Given the description of an element on the screen output the (x, y) to click on. 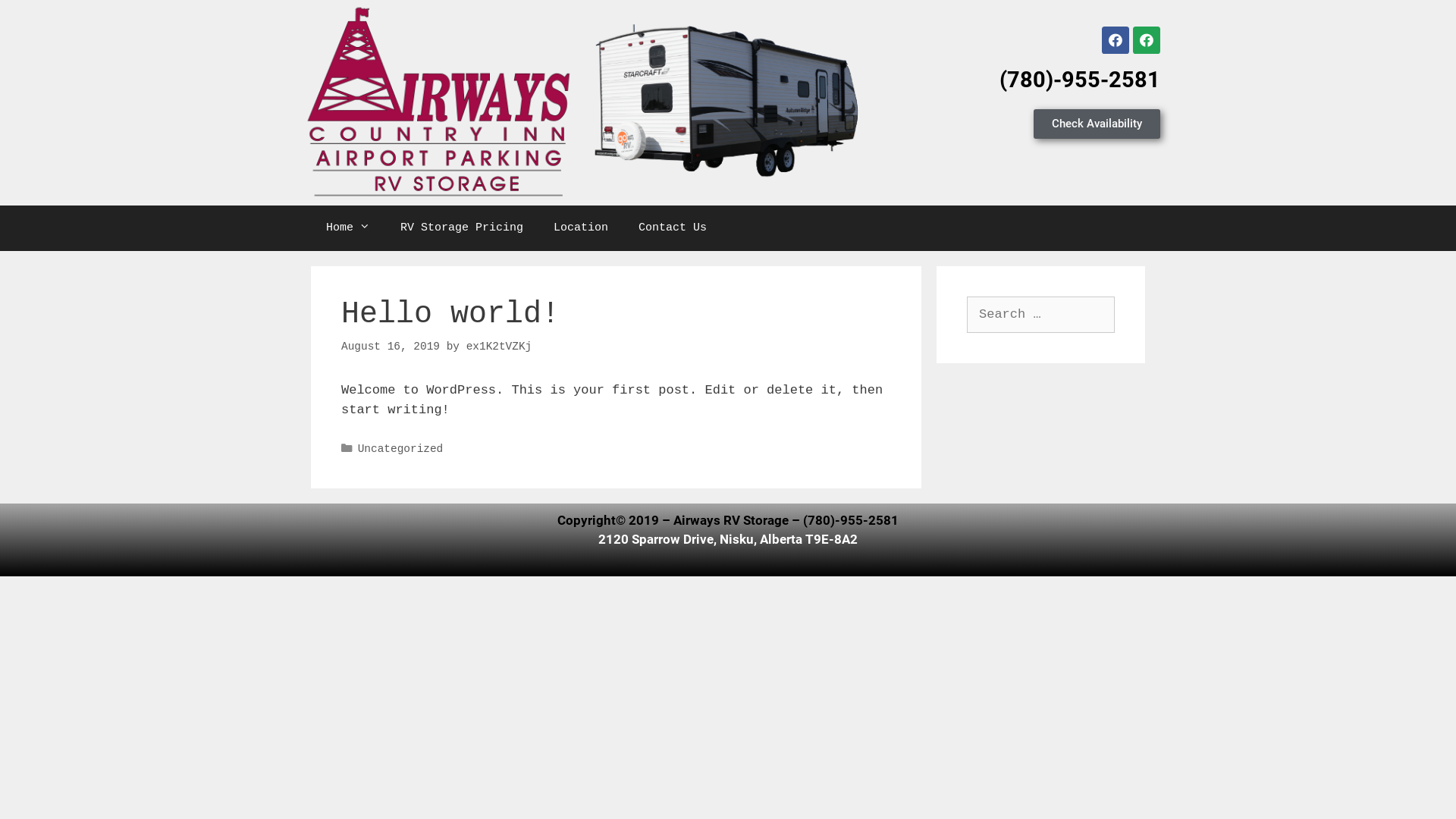
Check Availability Element type: text (1096, 123)
RV Storage Pricing Element type: text (461, 228)
Contact Us Element type: text (672, 228)
Location Element type: text (580, 228)
(780)-955-2581 Element type: text (1079, 79)
Home Element type: text (347, 228)
ex1K2tVZKj Element type: text (499, 346)
Search Element type: text (39, 18)
Uncategorized Element type: text (400, 448)
Search for: Element type: hover (1040, 314)
